Given the description of an element on the screen output the (x, y) to click on. 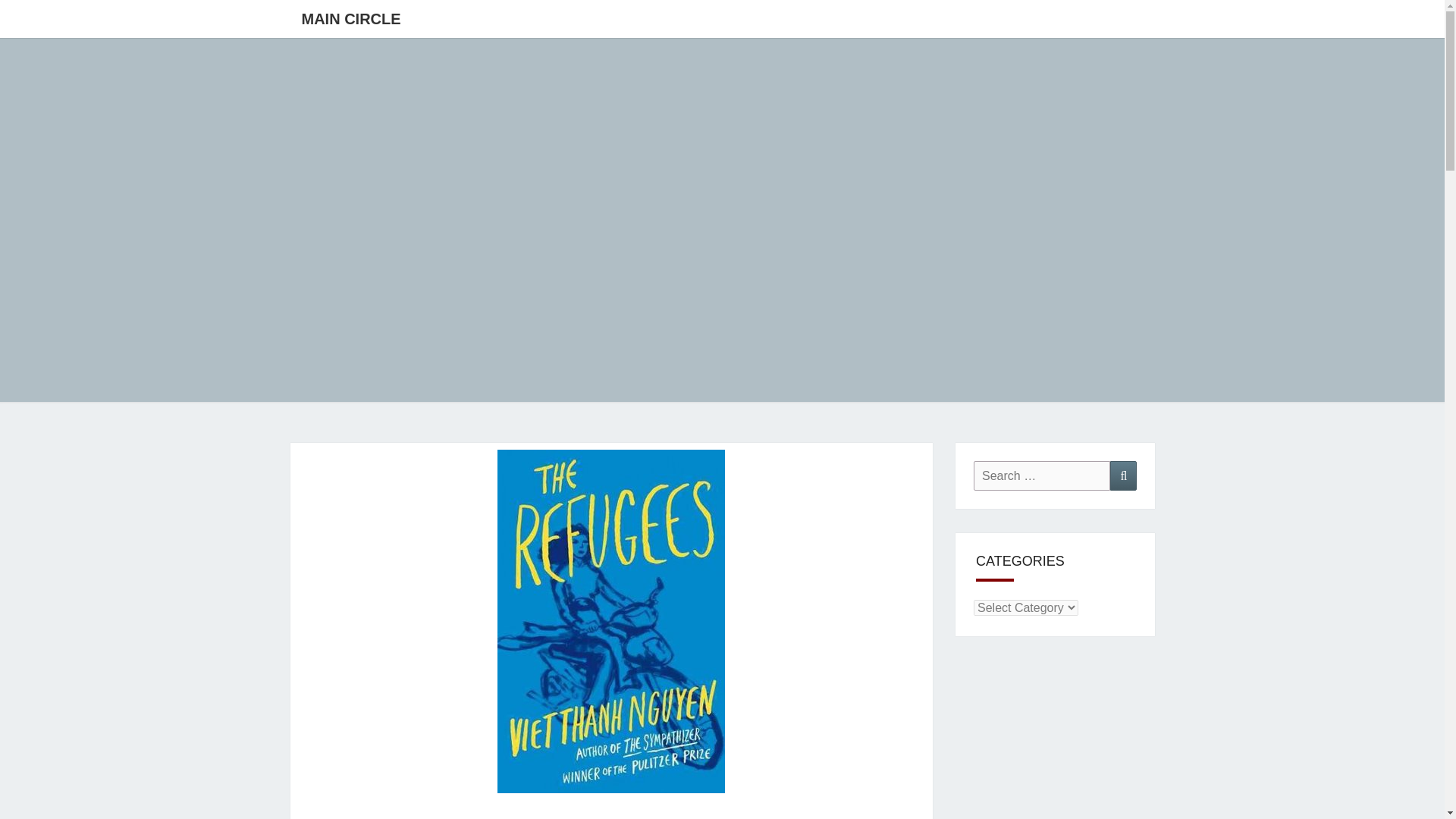
Search (1123, 475)
Search for: (1041, 475)
MAIN CIRCLE (350, 18)
